Given the description of an element on the screen output the (x, y) to click on. 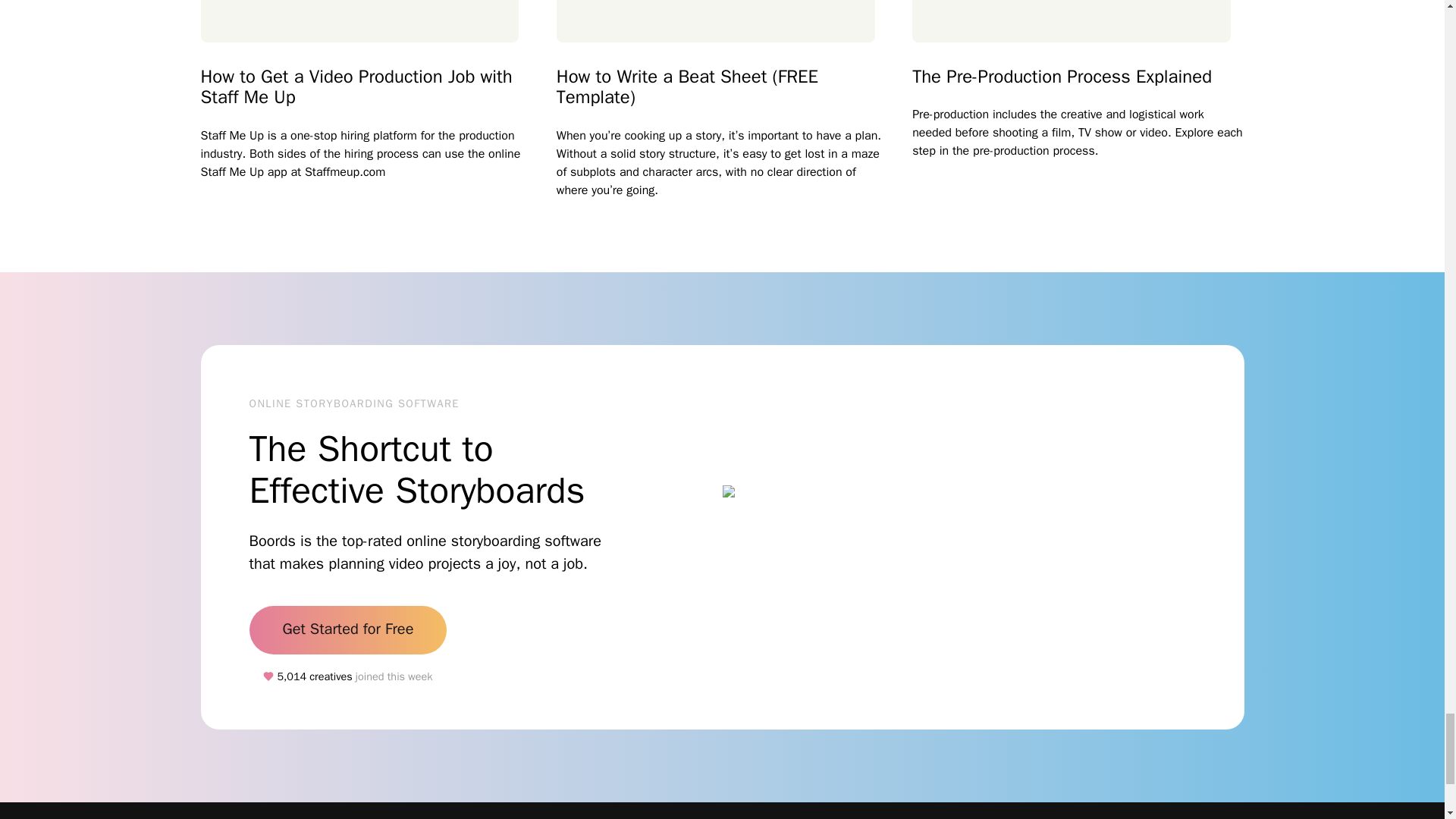
Get Started for Free (347, 630)
The Pre-Production Process Explained (1077, 76)
How to Get a Video Production Job with Staff Me Up (365, 87)
